Given the description of an element on the screen output the (x, y) to click on. 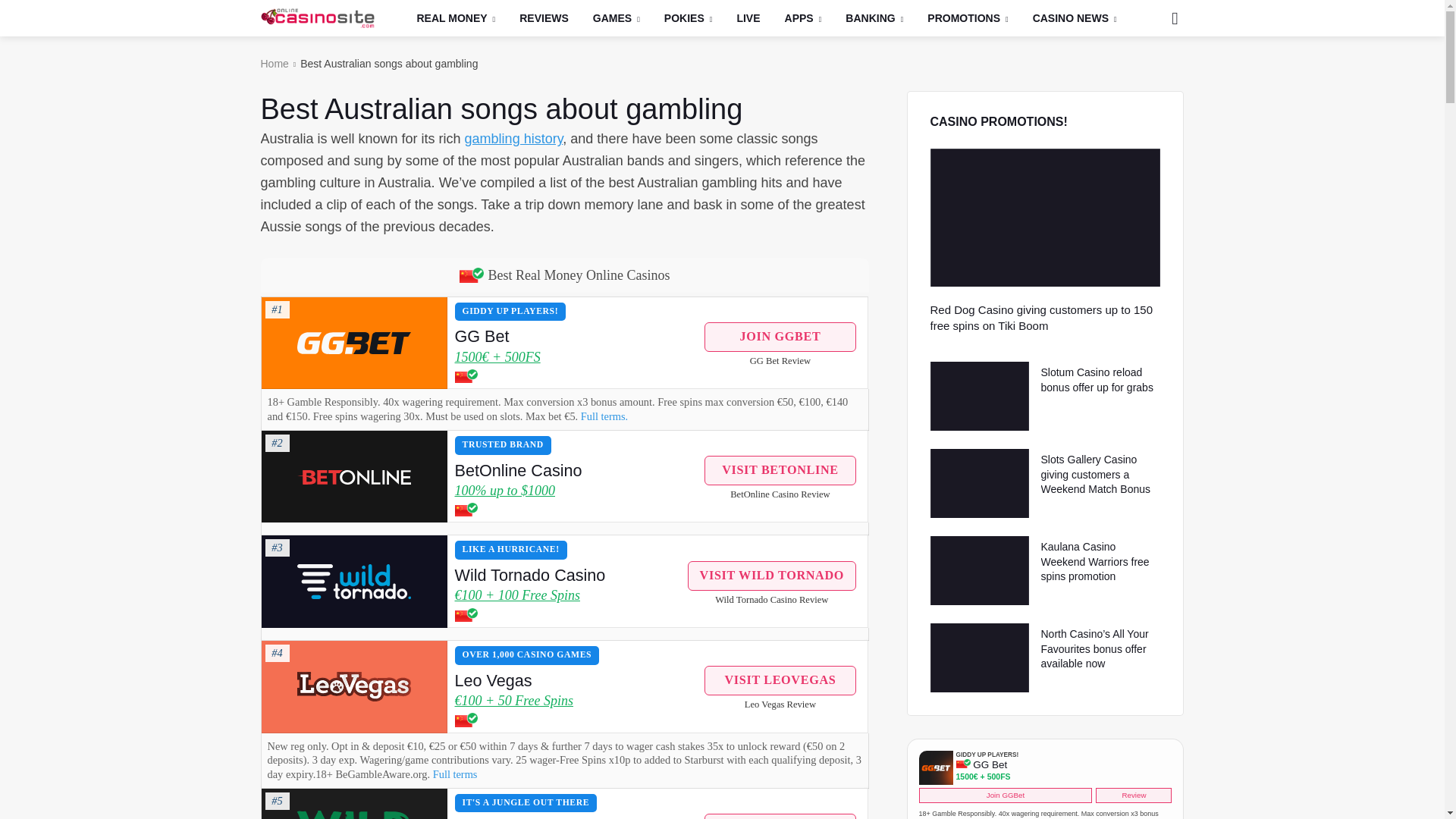
Best Casinos (456, 18)
POKIES (688, 18)
LIVE (747, 18)
BANKING (873, 18)
Claim bonus at GG Bet (353, 342)
REVIEWS (543, 18)
Deposits (873, 18)
Best Pokies Sites (688, 18)
Play at GG Bet (353, 342)
REAL MONEY (456, 18)
